Given the description of an element on the screen output the (x, y) to click on. 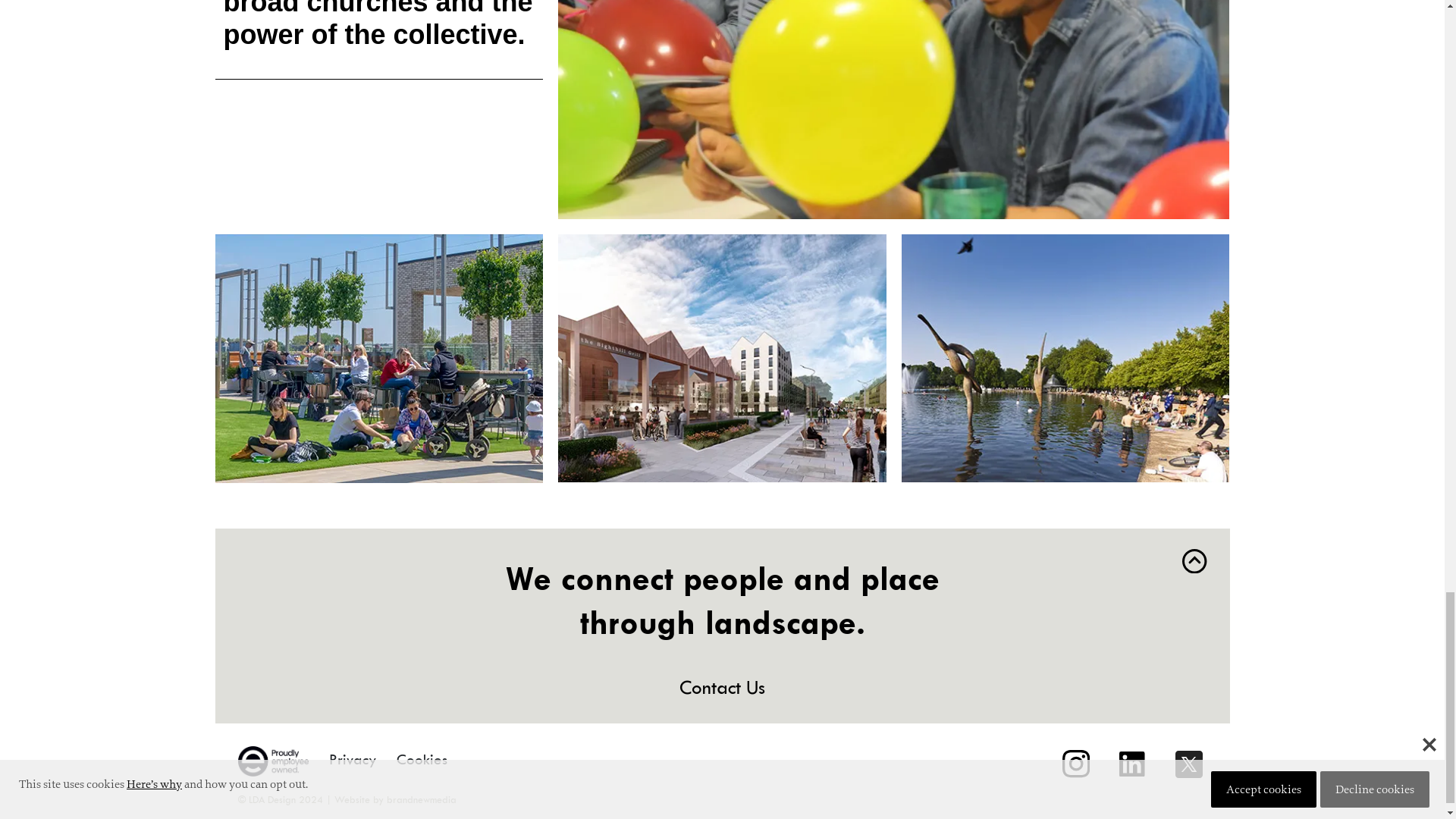
Contact Us (722, 687)
Privacy (353, 760)
Cookies (421, 760)
brandnewmedia (422, 799)
